Given the description of an element on the screen output the (x, y) to click on. 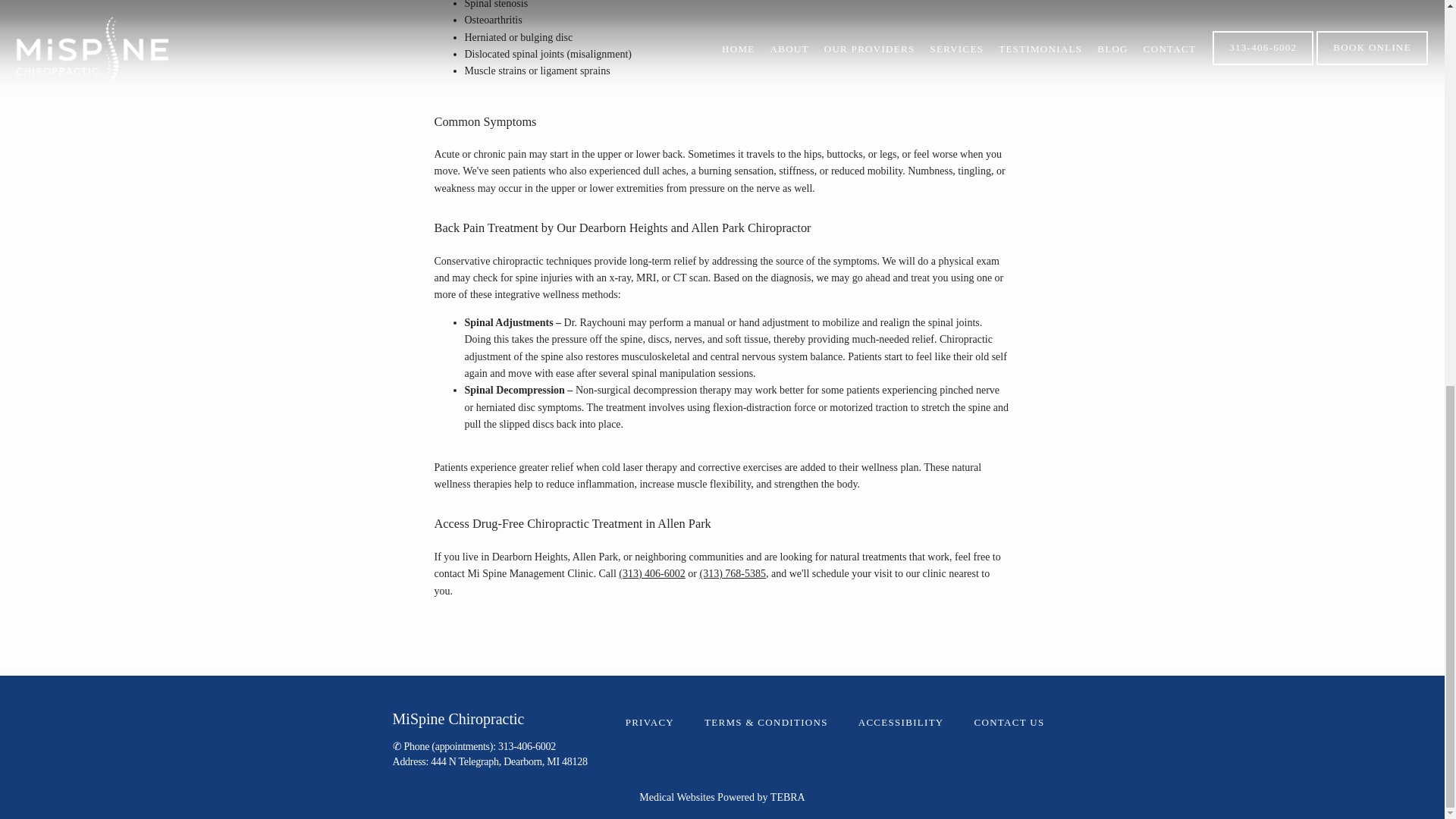
PRIVACY (650, 722)
ACCESSIBILITY (901, 722)
TEBRA (787, 797)
CONTACT US (1009, 722)
